Given the description of an element on the screen output the (x, y) to click on. 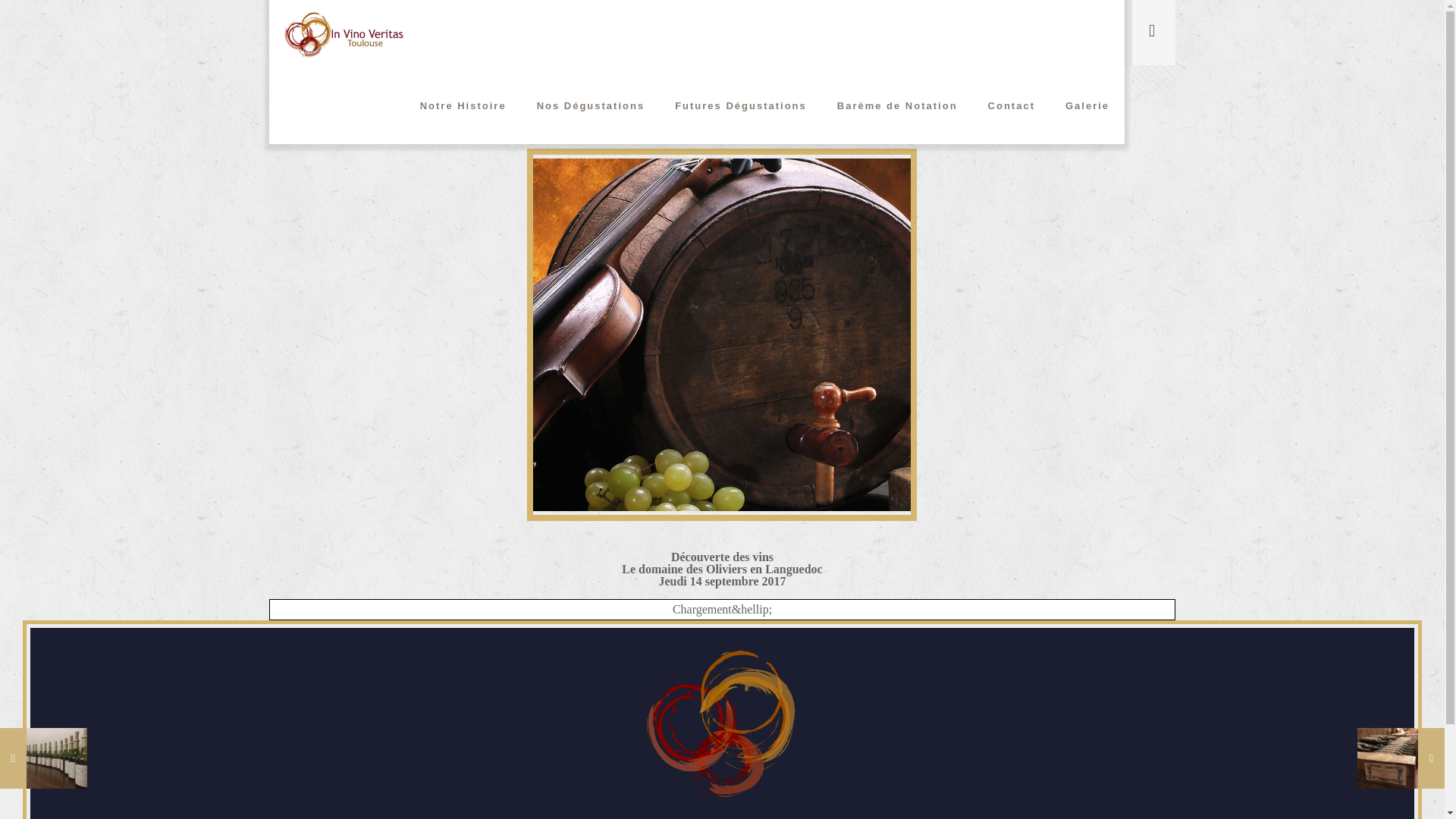
Contact (1010, 105)
Galerie (1086, 105)
Notre Histoire (462, 105)
In Vino Veritas Toulouse (343, 33)
